Given the description of an element on the screen output the (x, y) to click on. 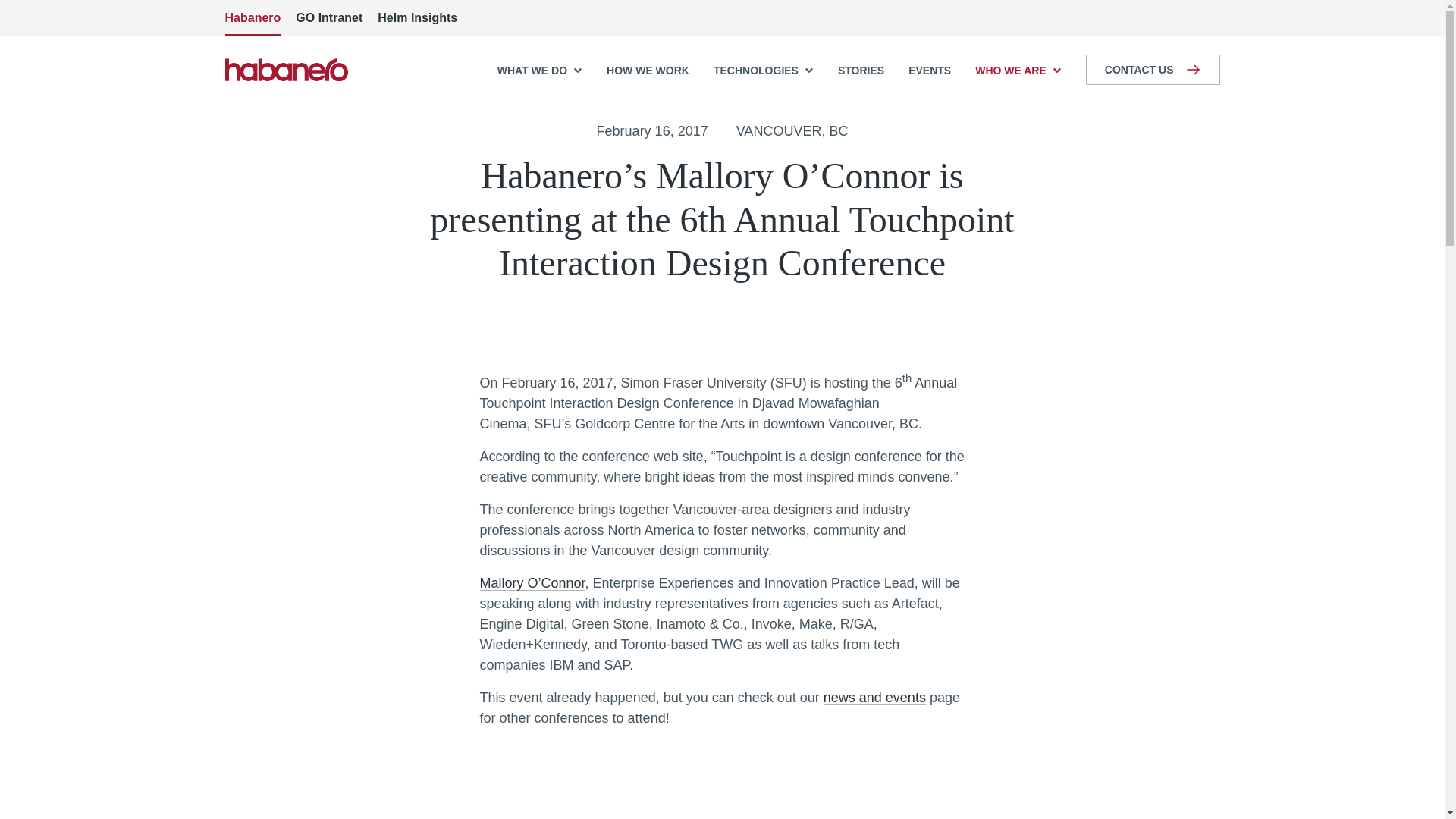
Habanero (252, 18)
STORIES (860, 69)
TECHNOLOGIES (763, 69)
CONTACT US (1153, 69)
Habanero Consulting Inc. (285, 69)
news and events (875, 697)
WHO WE ARE (1018, 69)
EVENTS (929, 69)
Helm Insights (417, 18)
HOW WE WORK (647, 69)
